Given the description of an element on the screen output the (x, y) to click on. 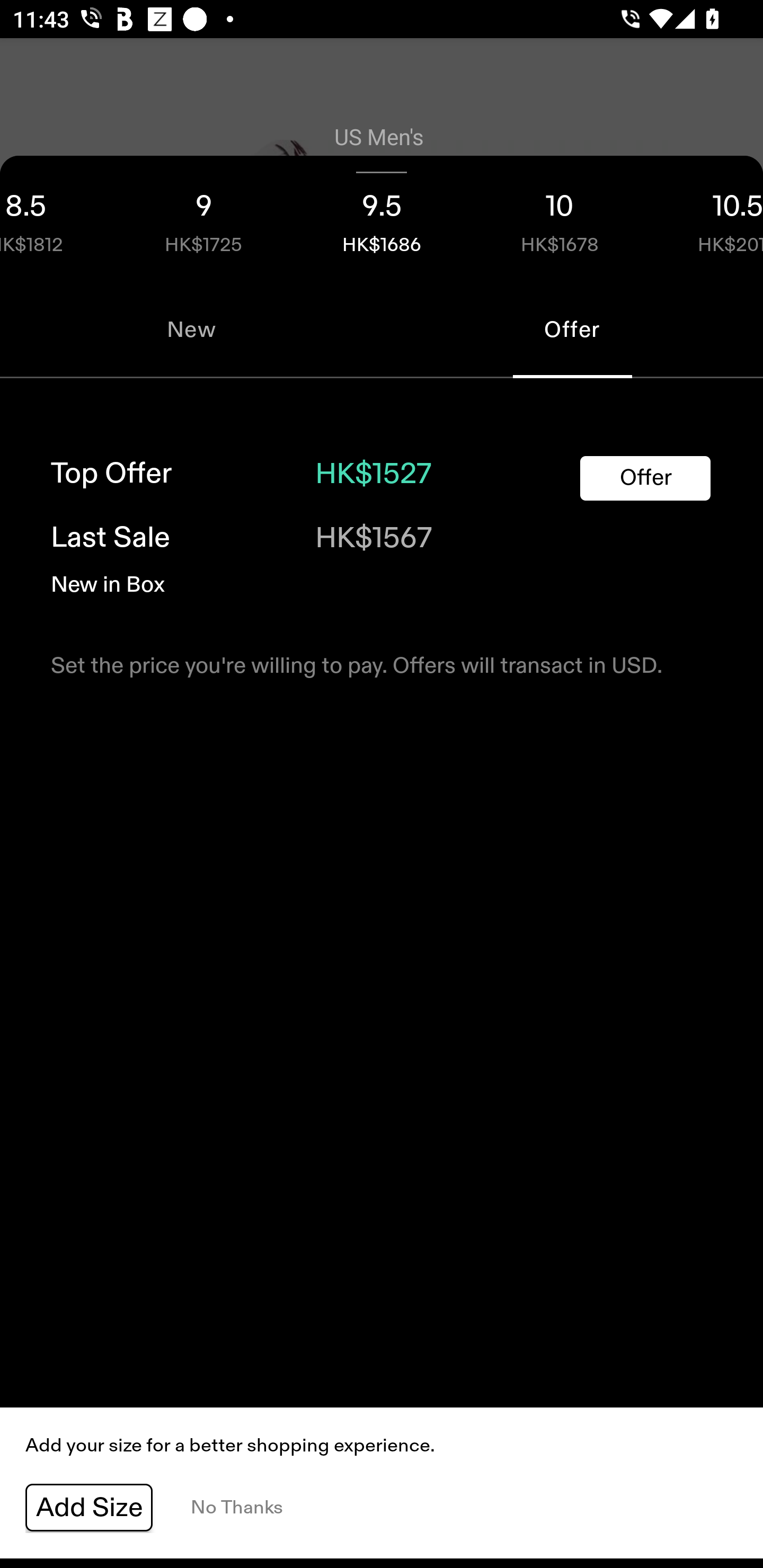
8.5 HK$1812 (57, 218)
9 HK$1725 (203, 218)
9.5 HK$1686 (381, 218)
10 HK$1678 (559, 218)
10.5 HK$2010 (705, 218)
New (190, 329)
Offer (644, 477)
No Thanks (236, 1507)
Add Size (88, 1507)
